Given the description of an element on the screen output the (x, y) to click on. 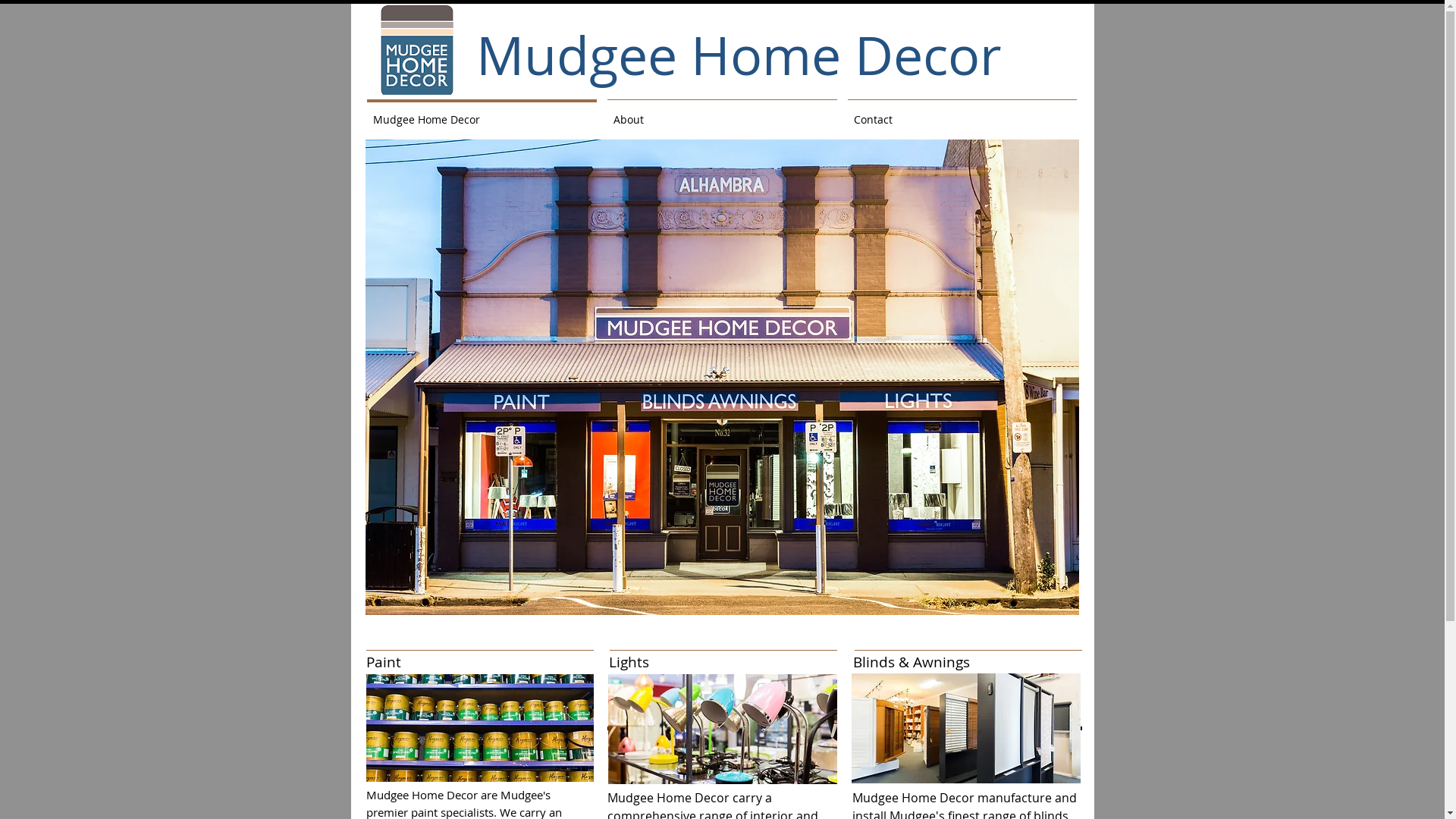
Mudgee Home Decor Element type: hover (479, 727)
Contact Element type: text (961, 112)
Mudgee Home Decor Element type: text (420, 794)
Mudgee Home Decor Element type: hover (964, 728)
About Element type: text (722, 112)
Mudgee Home Decor Element type: hover (722, 729)
Mudgee Home Decor Element type: text (480, 112)
Mudgee Home Decor Element type: text (667, 797)
Mudgee Home Decor Element type: text (913, 797)
